Given the description of an element on the screen output the (x, y) to click on. 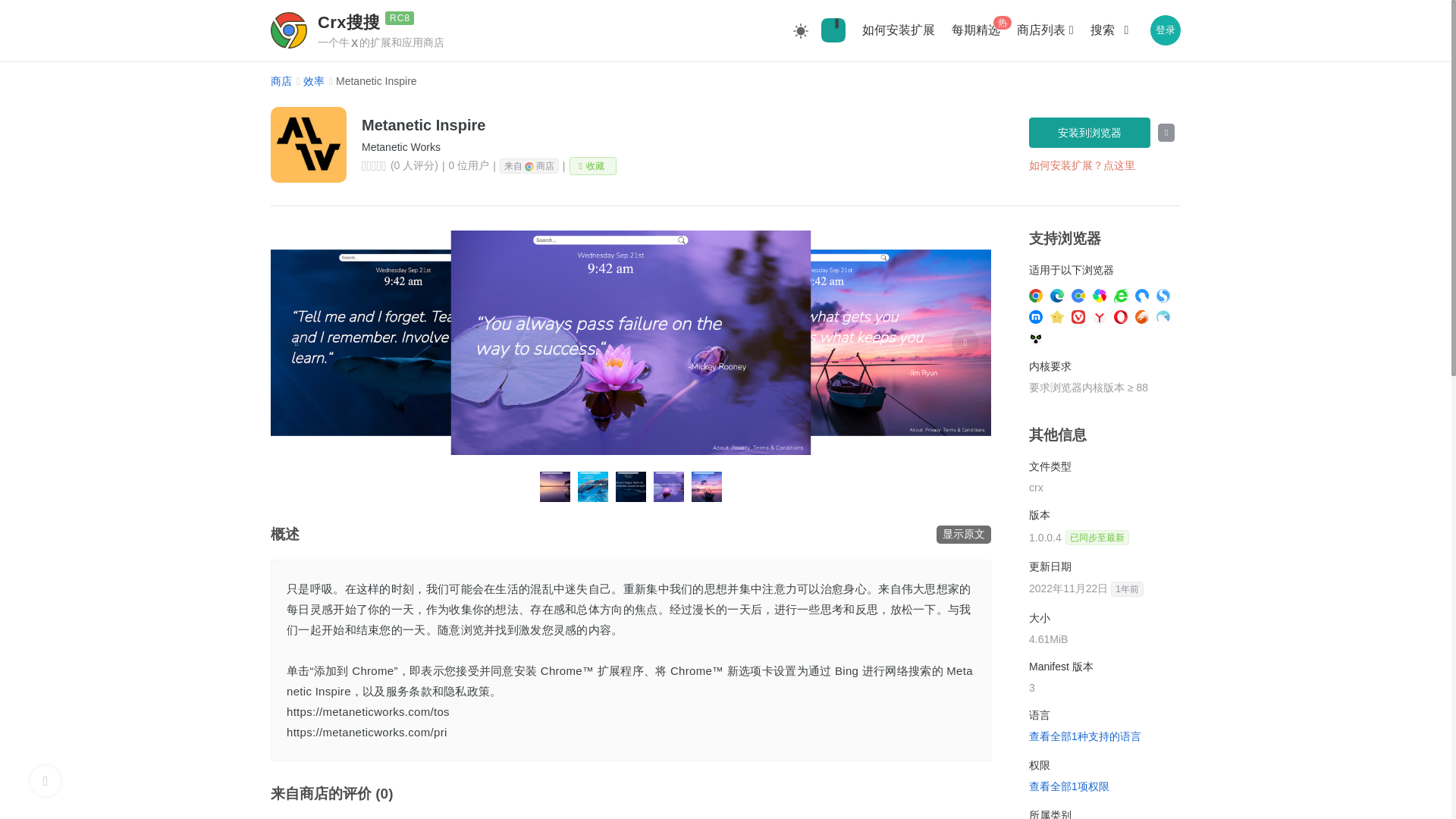
Metanetic Works (676, 146)
